Given the description of an element on the screen output the (x, y) to click on. 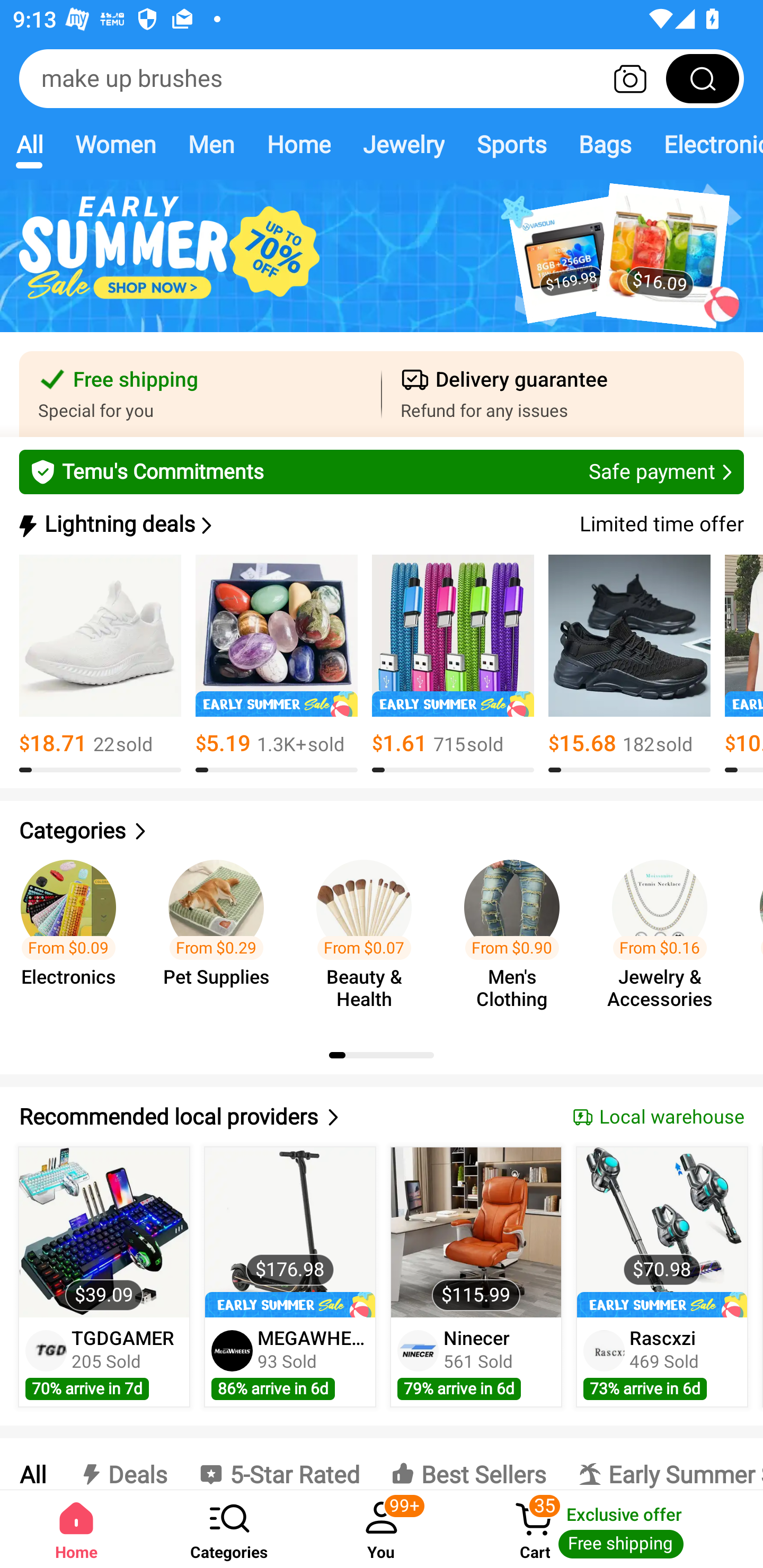
make up brushes (381, 78)
All (29, 144)
Women (115, 144)
Men (211, 144)
Home (298, 144)
Jewelry (403, 144)
Sports (511, 144)
Bags (605, 144)
Electronics (705, 144)
$169.98 $16.09 (381, 265)
Free shipping Special for you (200, 394)
Delivery guarantee Refund for any issues (562, 394)
Temu's Commitments (381, 471)
Lightning deals Lightning deals Limited time offer (379, 524)
$18.71 22￼sold 8.0 (100, 664)
$5.19 1.3K+￼sold 8.0 (276, 664)
$1.61 715￼sold 8.0 (453, 664)
$15.68 182￼sold 8.0 (629, 664)
Categories (381, 830)
From $0.09 Electronics (74, 936)
From $0.29 Pet Supplies (222, 936)
From $0.07 Beauty & Health (369, 936)
From $0.90 Men's Clothing (517, 936)
From $0.16 Jewelry & Accessories (665, 936)
$39.09 TGDGAMER 205 Sold 70% arrive in 7d (103, 1276)
$176.98 MEGAWHEELS 93 Sold 86% arrive in 6d (289, 1276)
$115.99 Ninecer 561 Sold 79% arrive in 6d (475, 1276)
$70.98 Rascxzi 469 Sold 73% arrive in 6d (661, 1276)
$39.09 (104, 1232)
$176.98 (290, 1232)
$115.99 (475, 1232)
$70.98 (661, 1232)
All (32, 1463)
Deals Deals Deals (122, 1463)
5-Star Rated 5-Star Rated 5-Star Rated (279, 1463)
Best Sellers Best Sellers Best Sellers (468, 1463)
Home (76, 1528)
Categories (228, 1528)
You ‎99+‎ You (381, 1528)
Cart 35 Cart Exclusive offer (610, 1528)
